Given the description of an element on the screen output the (x, y) to click on. 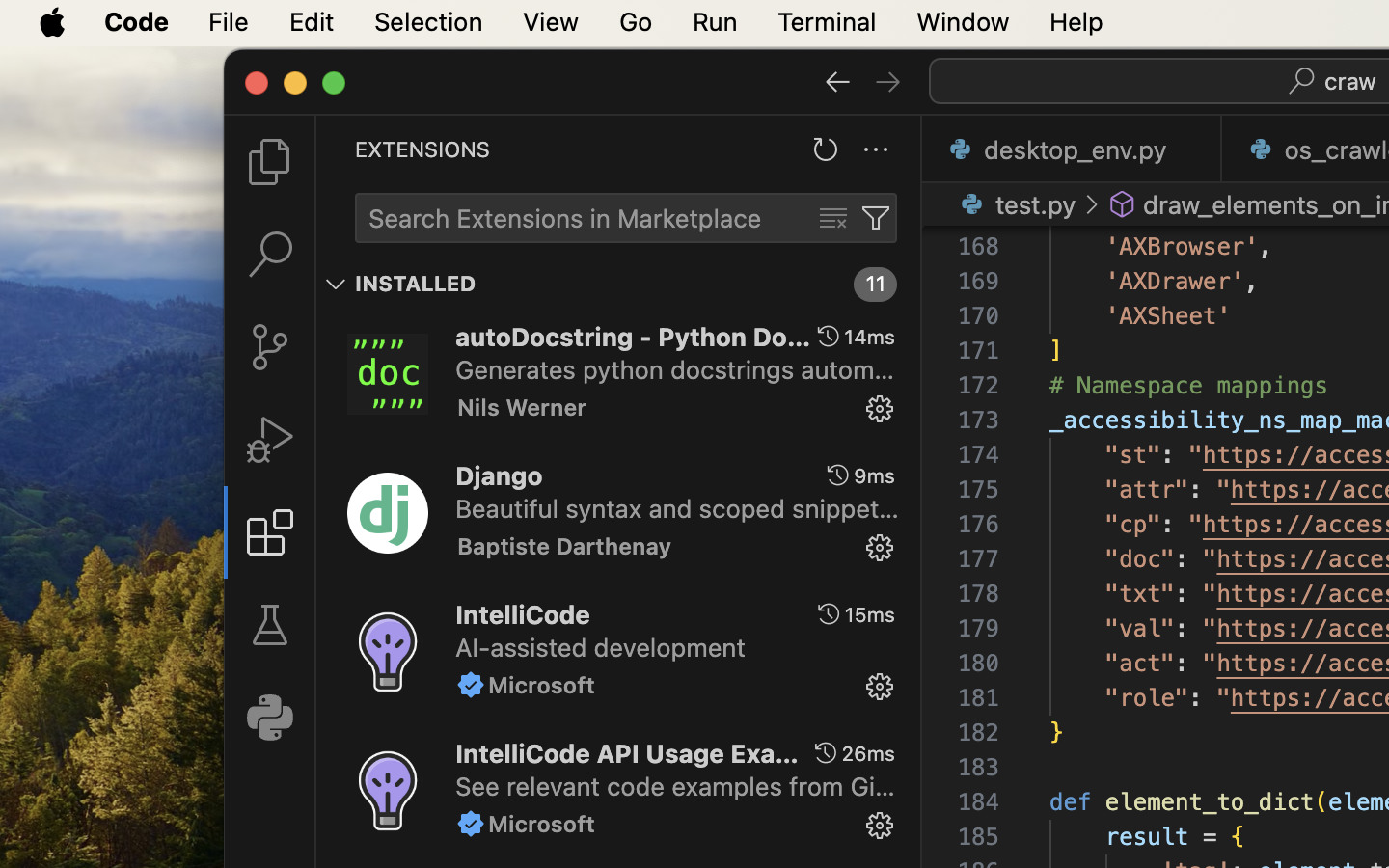
 Element type: AXGroup (269, 624)
11 Element type: AXStaticText (875, 284)
Nils Werner Element type: AXStaticText (522, 406)
Baptiste Darthenay Element type: AXStaticText (565, 545)
AI-assisted development Element type: AXStaticText (600, 646)
